Given the description of an element on the screen output the (x, y) to click on. 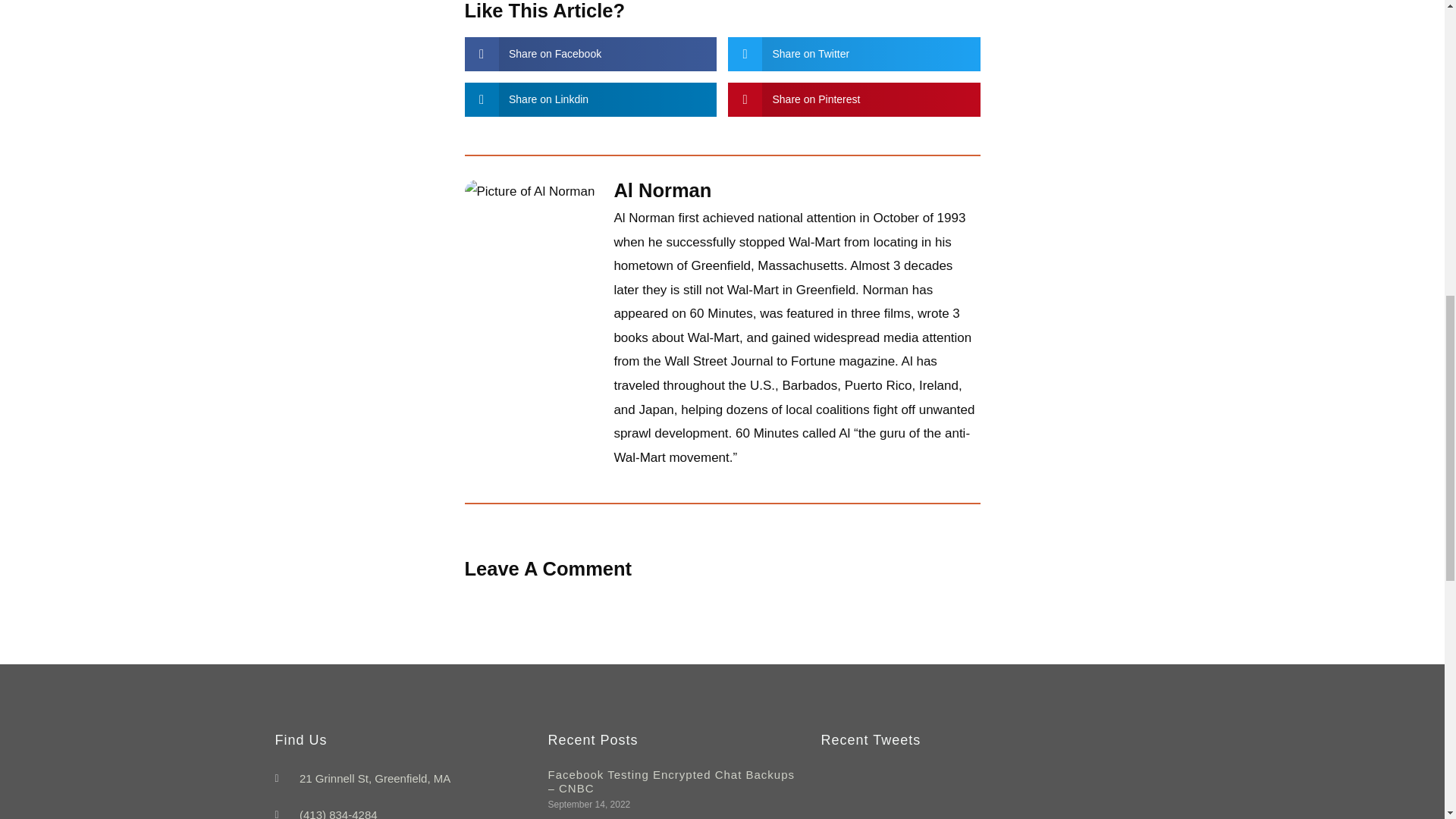
21 Grinnell St, Greenfield, MA (403, 778)
